Given the description of an element on the screen output the (x, y) to click on. 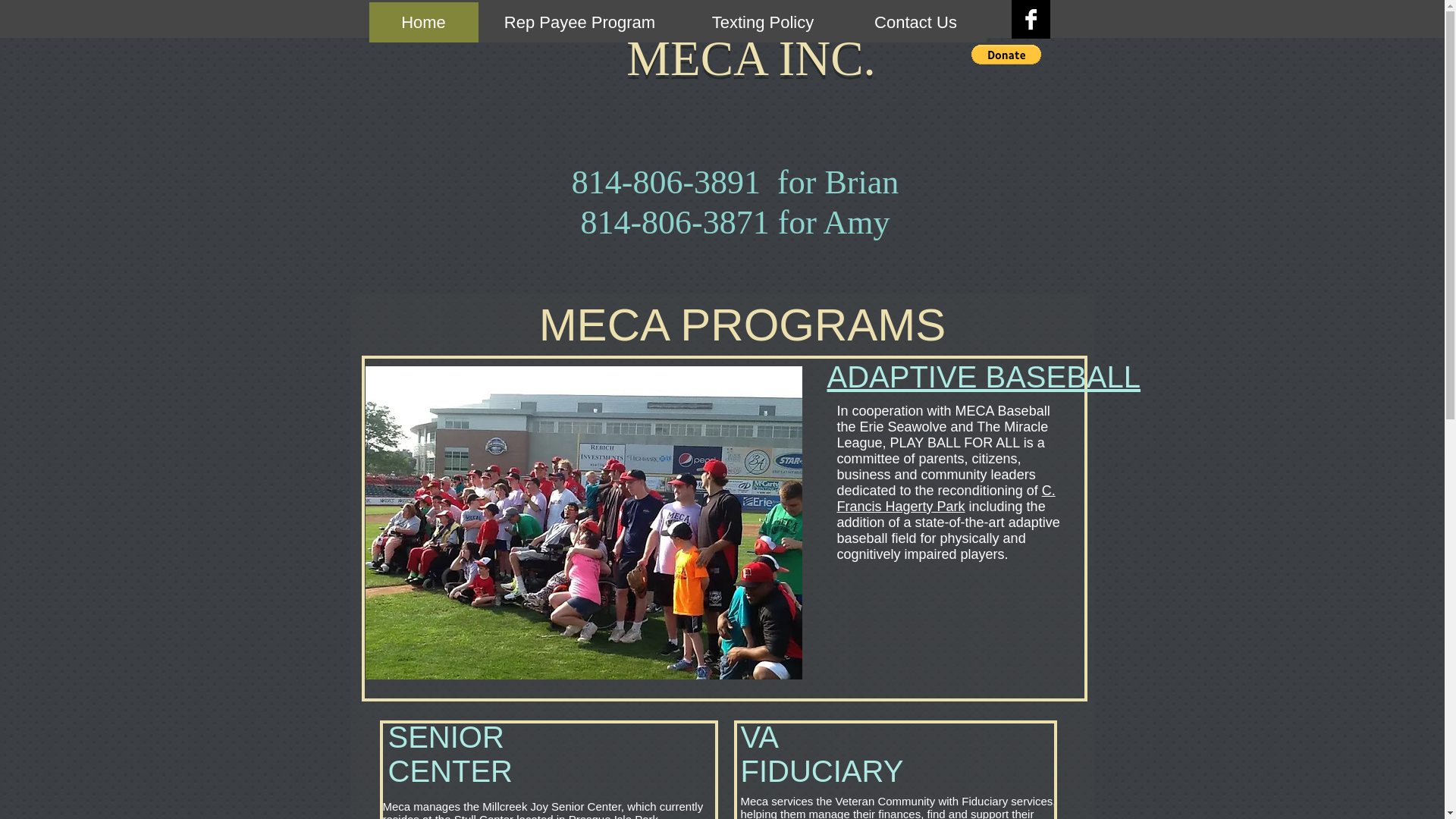
Contact Us (915, 22)
C. Francis Hagerty Park (946, 498)
Home (422, 22)
ADAPTIVE BASEBALL (983, 376)
Rep Payee Program (578, 22)
Texting Policy (762, 22)
